Given the description of an element on the screen output the (x, y) to click on. 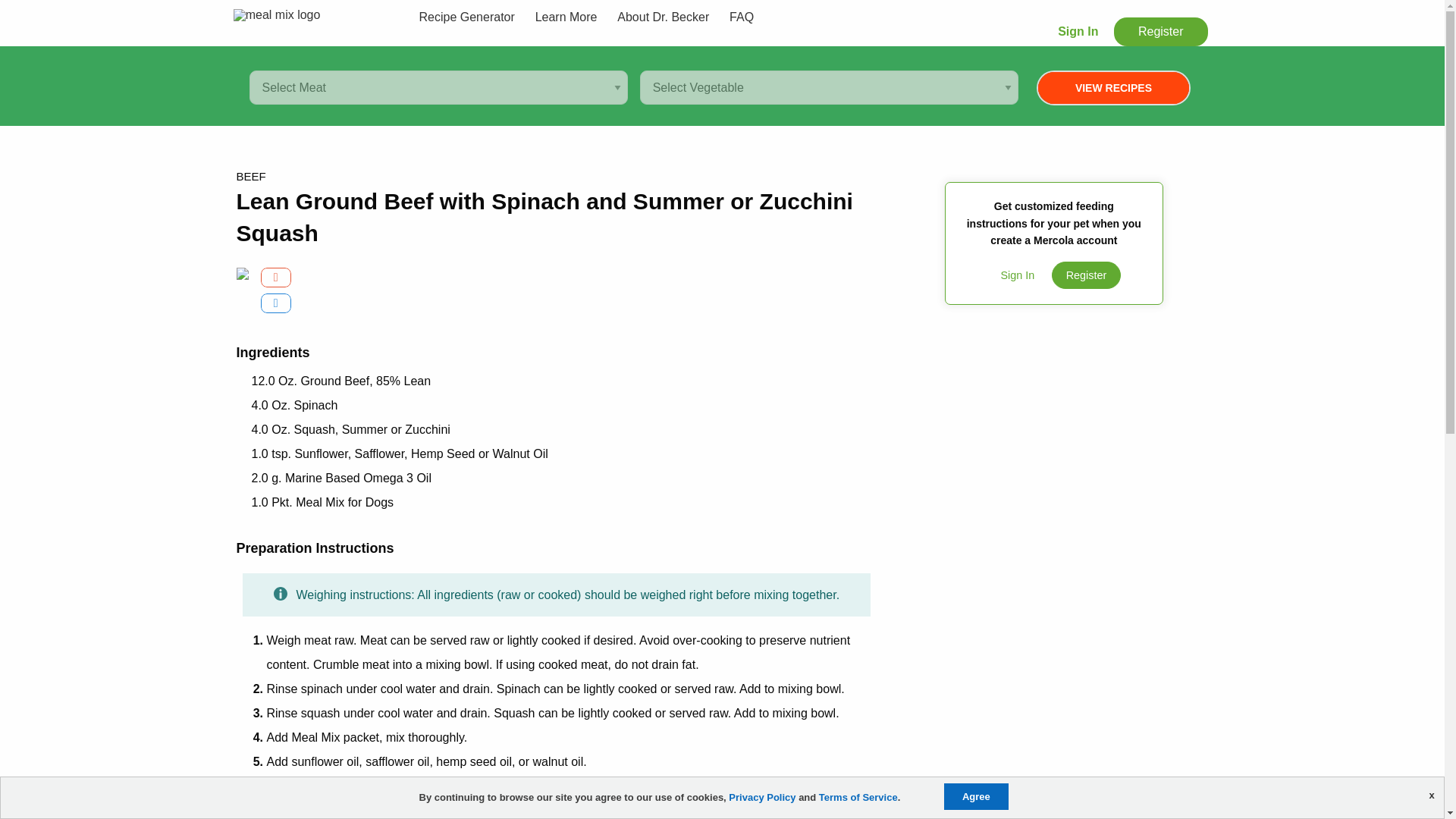
About Dr. Becker (662, 17)
View Recipes (1113, 88)
Register (1086, 274)
FAQ (740, 17)
Register (1160, 31)
Sign In (1017, 274)
View Recipes (1113, 88)
Recipe Generator (466, 17)
Sign In (1077, 31)
Learn More (565, 17)
